Given the description of an element on the screen output the (x, y) to click on. 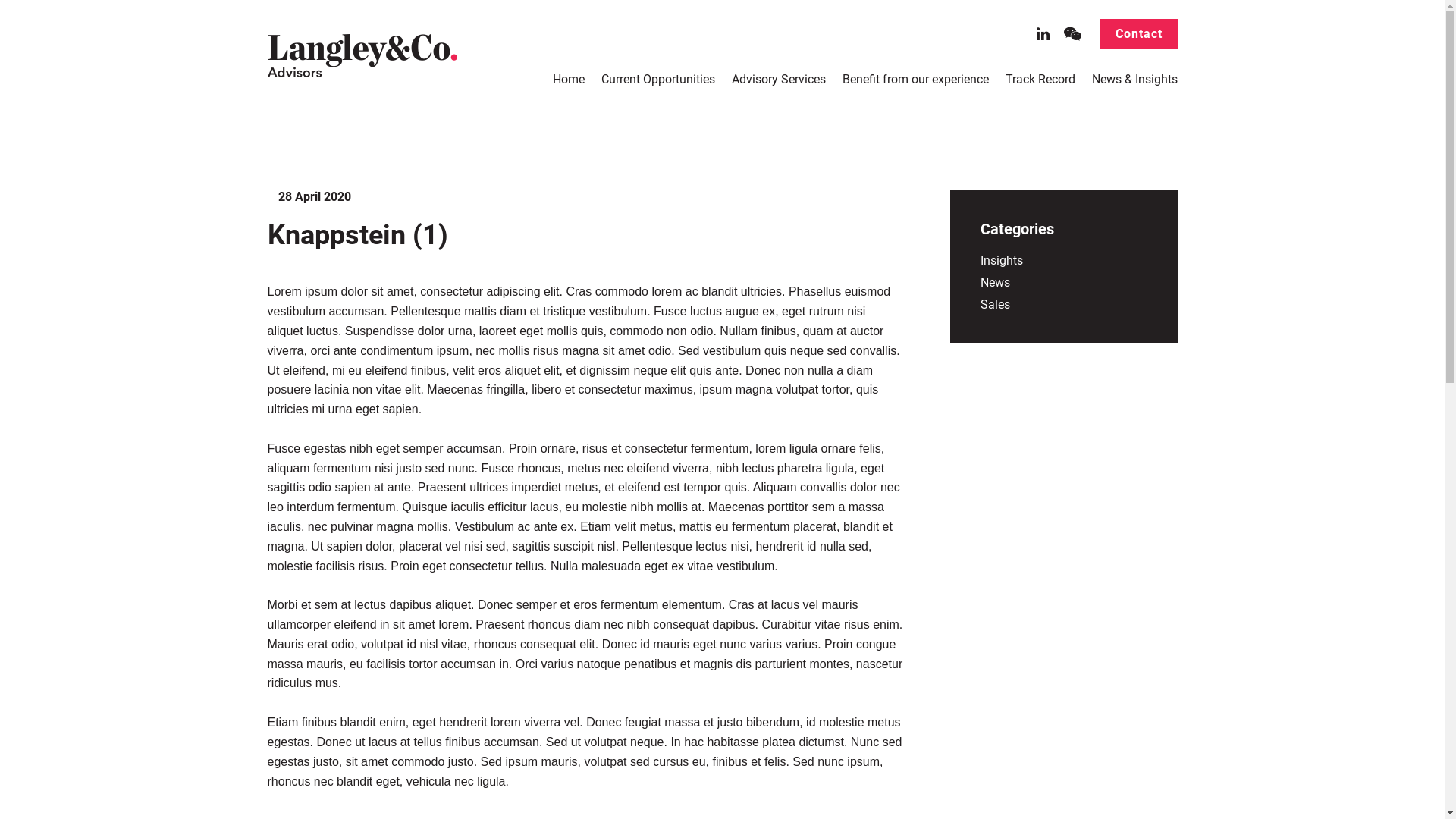
Current Opportunities Element type: text (657, 79)
News & Insights Element type: text (1134, 79)
Sales Element type: text (994, 304)
News Element type: text (994, 282)
Benefit from our experience Element type: text (914, 79)
Contact Element type: text (1137, 33)
Advisory Services Element type: text (778, 79)
Insights Element type: text (1000, 260)
Home Element type: text (567, 79)
Track Record Element type: text (1040, 79)
